Given the description of an element on the screen output the (x, y) to click on. 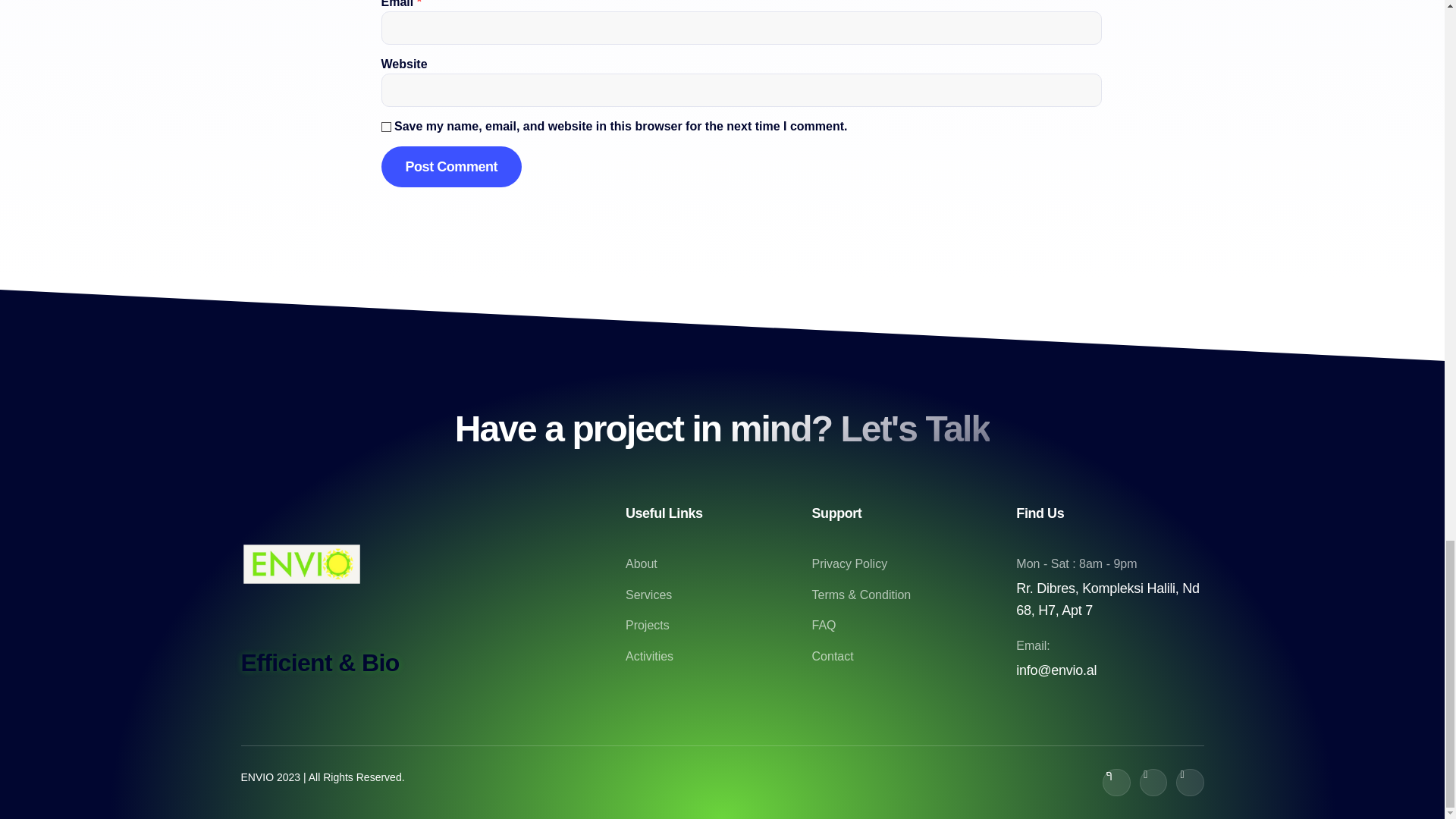
About (719, 564)
Privacy Policy (911, 564)
Post Comment (450, 166)
FAQ (911, 625)
Contact (911, 656)
Services (719, 595)
Post Comment (450, 166)
